Given the description of an element on the screen output the (x, y) to click on. 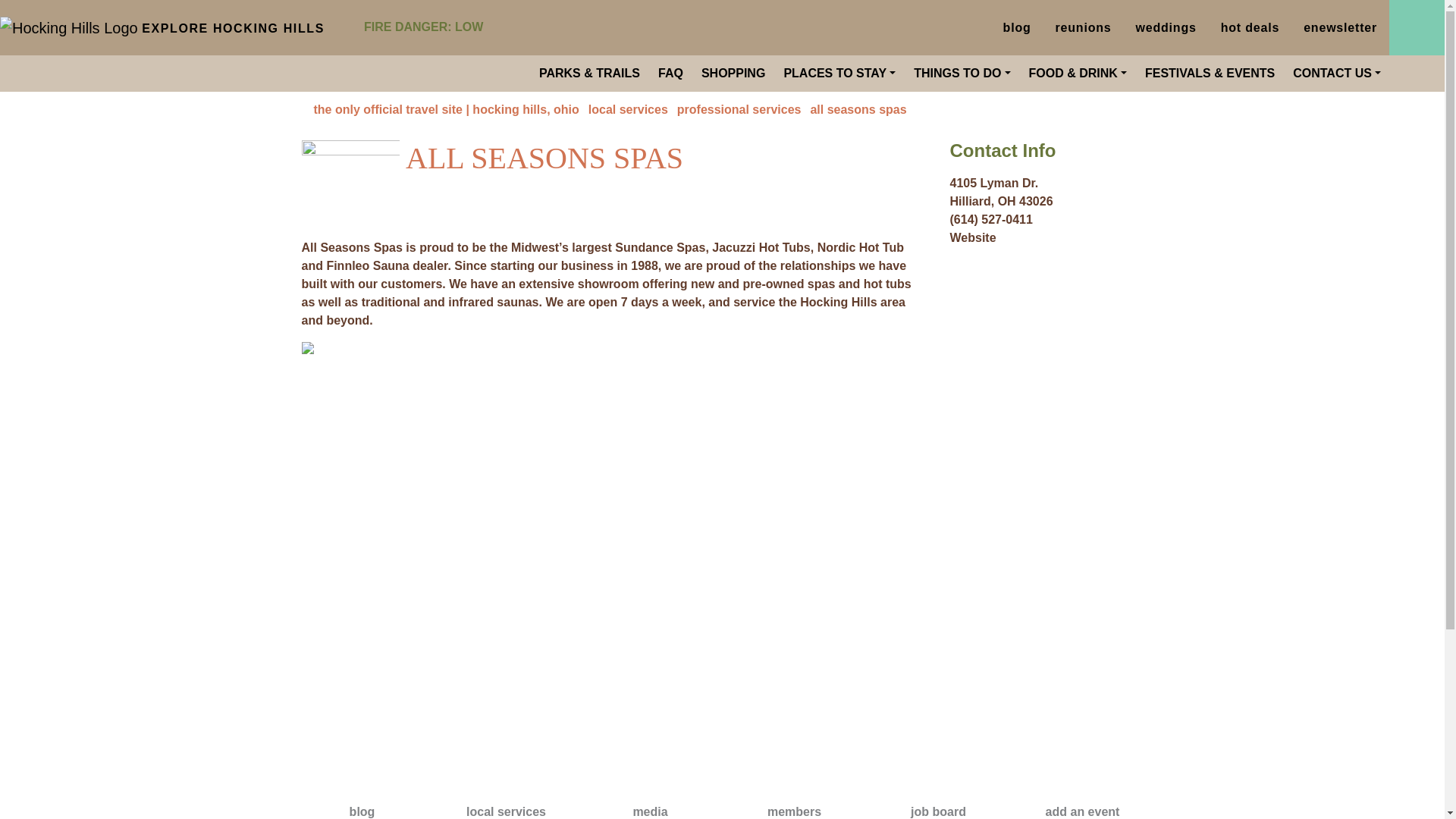
Hocking Hills Logo (69, 27)
